Given the description of an element on the screen output the (x, y) to click on. 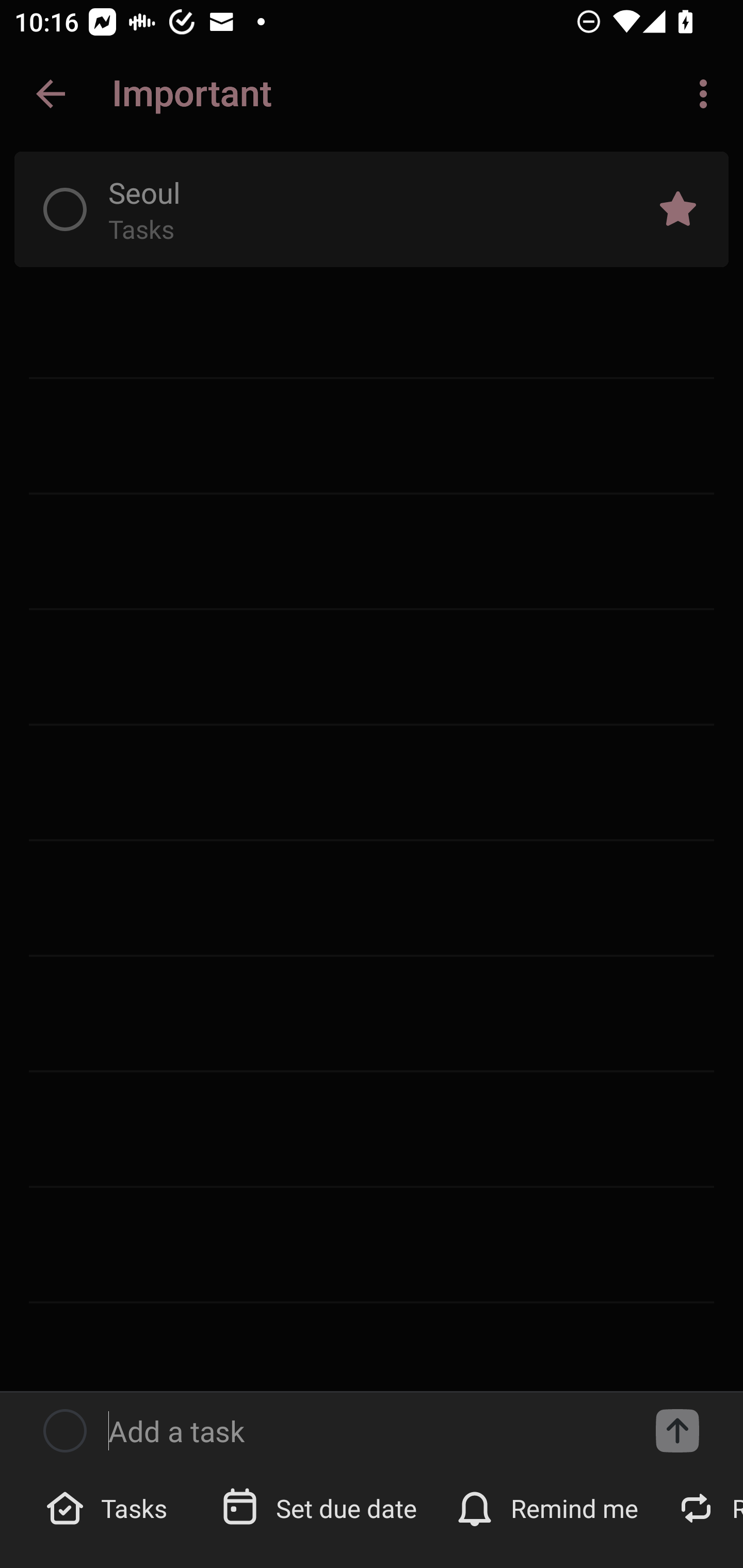
Back (50, 93)
testappium002@outlook.com Enter search (185, 93)
More options (706, 93)
Incomplete task Seoul, Button (64, 209)
Important task Seoul, Button (677, 209)
Seoul (356, 191)
Add a task (676, 1430)
Add a task (366, 1430)
Tasks (108, 1507)
Set due date (321, 1507)
Remind me (548, 1507)
